Given the description of an element on the screen output the (x, y) to click on. 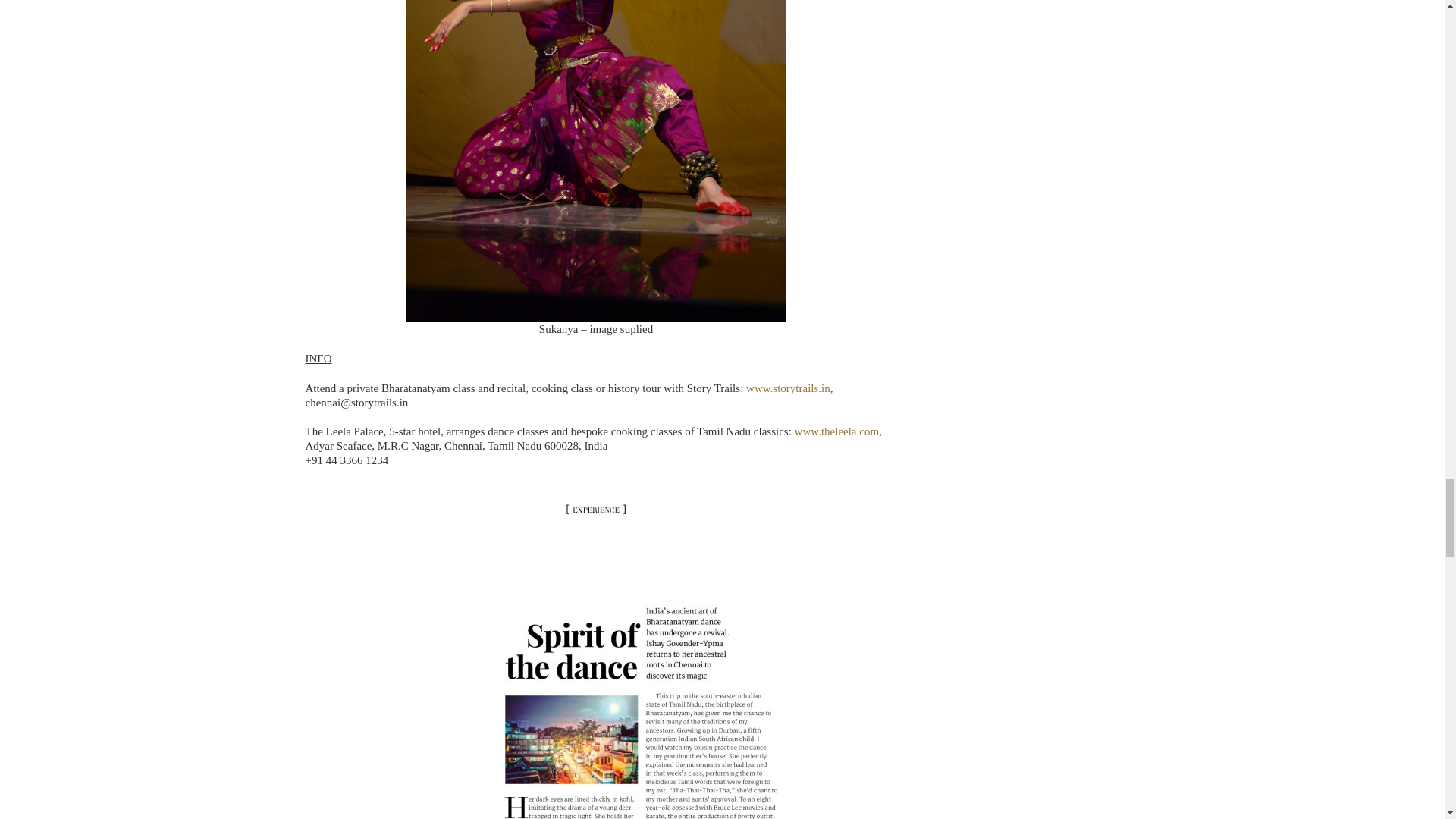
www.storytrails.in (787, 387)
www.theleela.com (836, 431)
